Given the description of an element on the screen output the (x, y) to click on. 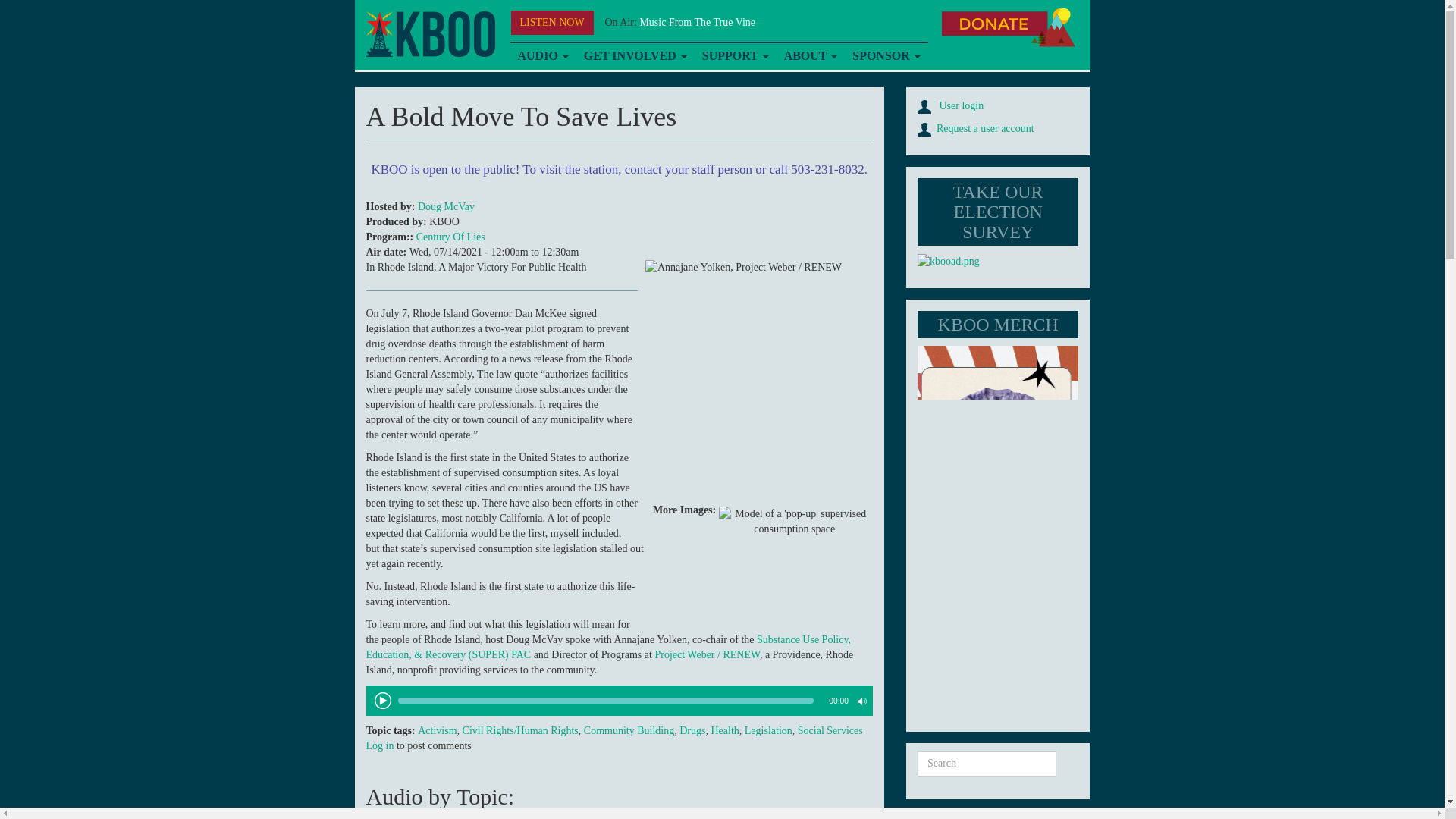
Music From The True Vine (697, 21)
LISTEN NOW (551, 22)
Home (430, 34)
AUDIO (542, 55)
ABOUT (810, 55)
GET INVOLVED (635, 55)
SUPPORT (735, 55)
